Given the description of an element on the screen output the (x, y) to click on. 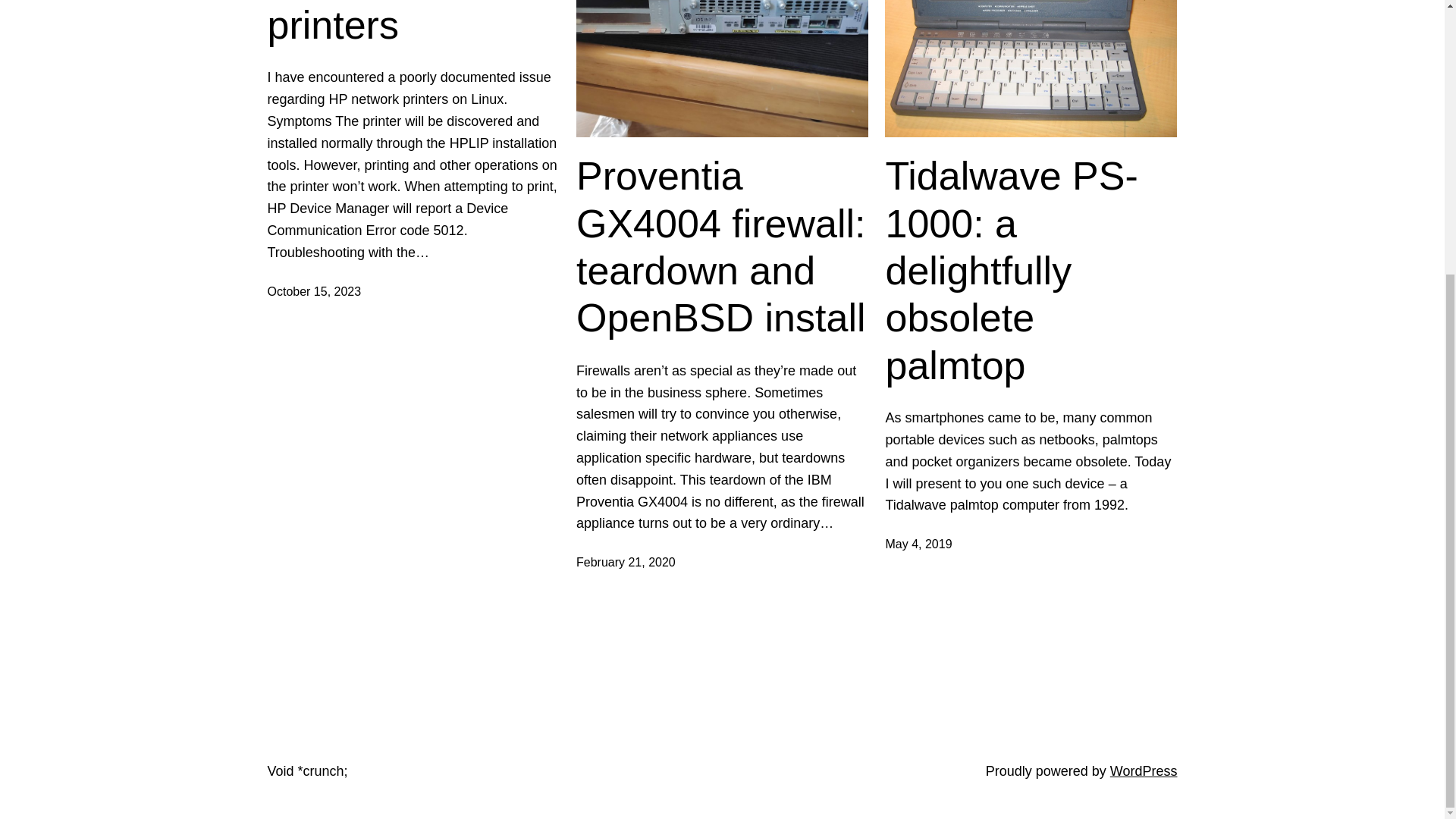
Proventia GX4004 firewall: teardown and OpenBSD install (721, 247)
February 21, 2020 (625, 562)
May 4, 2019 (918, 543)
WordPress (1143, 770)
Tidalwave PS-1000: a delightfully obsolete palmtop (1030, 270)
HPLIP error 5012 on network printers (412, 24)
October 15, 2023 (313, 291)
